Given the description of an element on the screen output the (x, y) to click on. 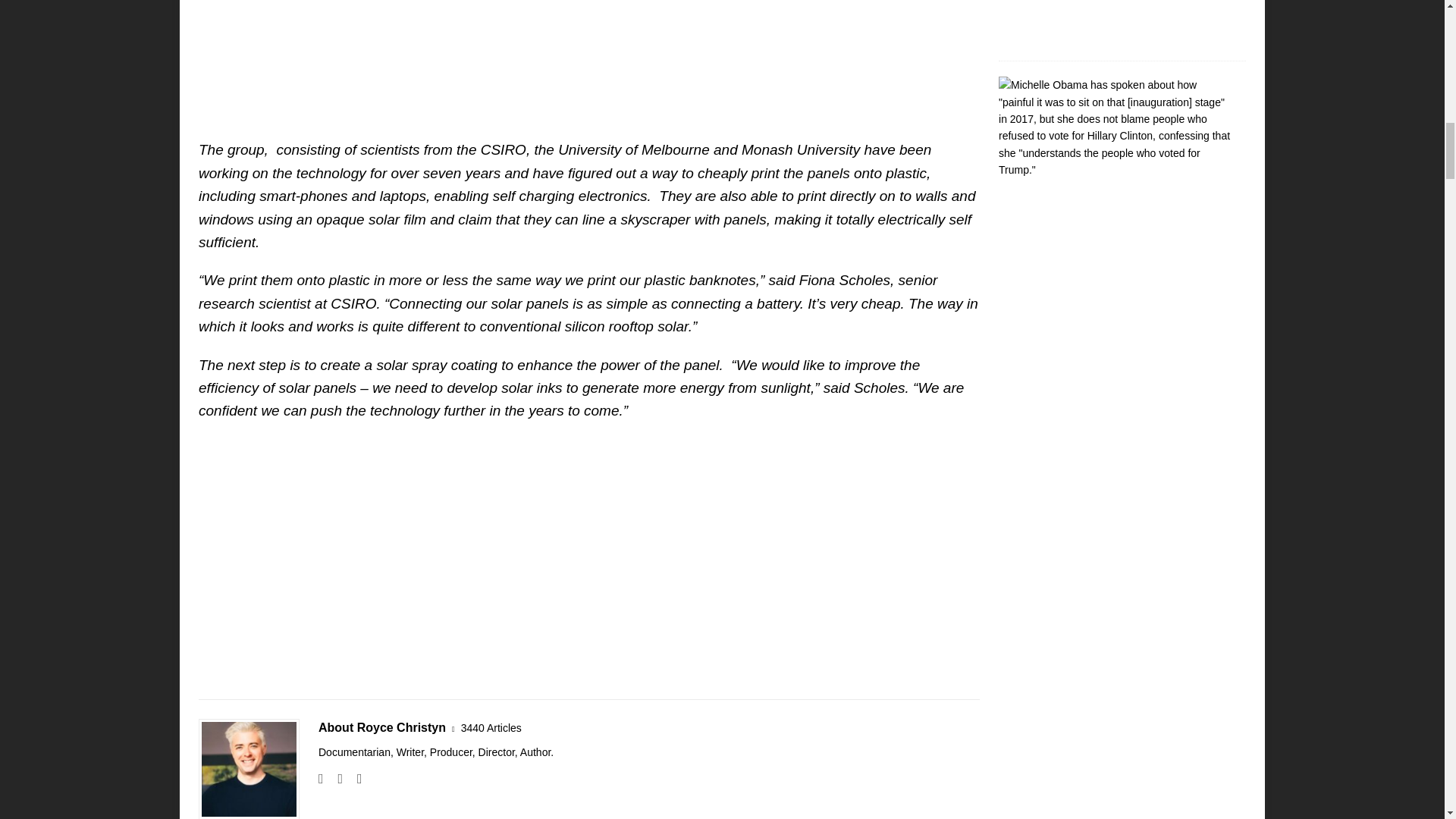
Follow Royce Christyn on Twitter (354, 778)
More articles written by Royce Christyn' (491, 728)
Follow Royce Christyn on Instagram (334, 778)
